Given the description of an element on the screen output the (x, y) to click on. 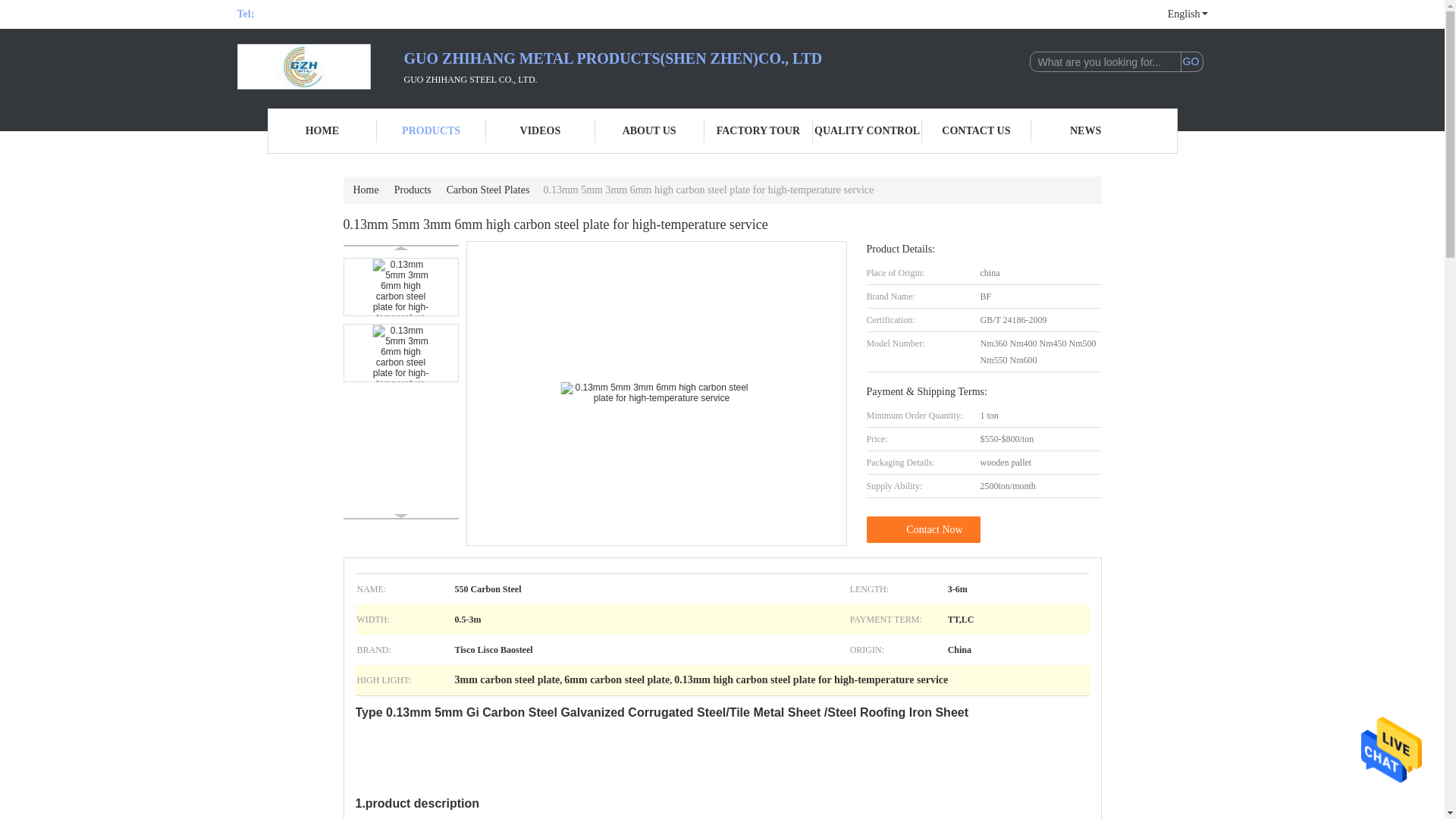
HOME (322, 130)
PRODUCTS (431, 130)
English (1180, 14)
GO (1190, 61)
GO (1190, 61)
